Given the description of an element on the screen output the (x, y) to click on. 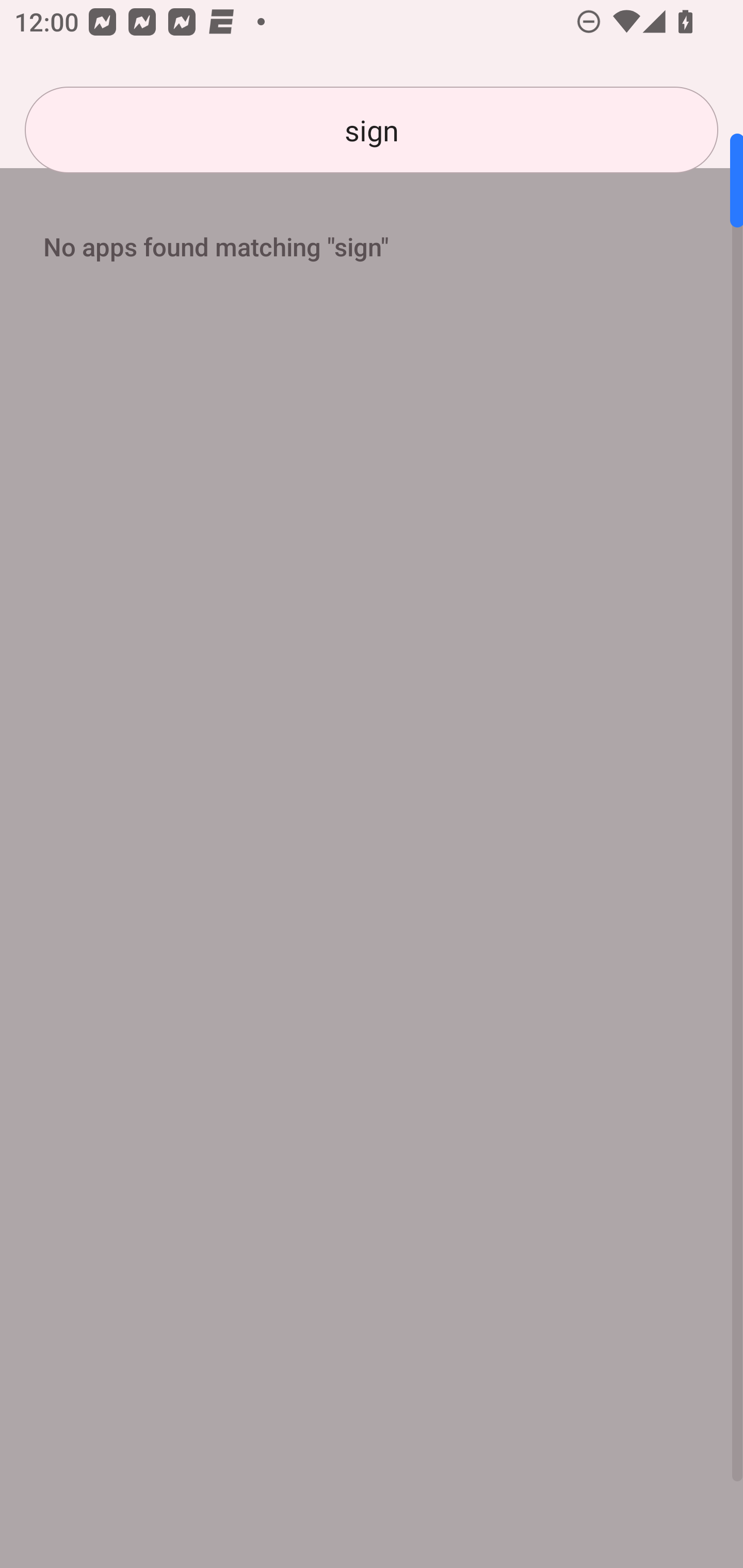
sign (371, 130)
